Given the description of an element on the screen output the (x, y) to click on. 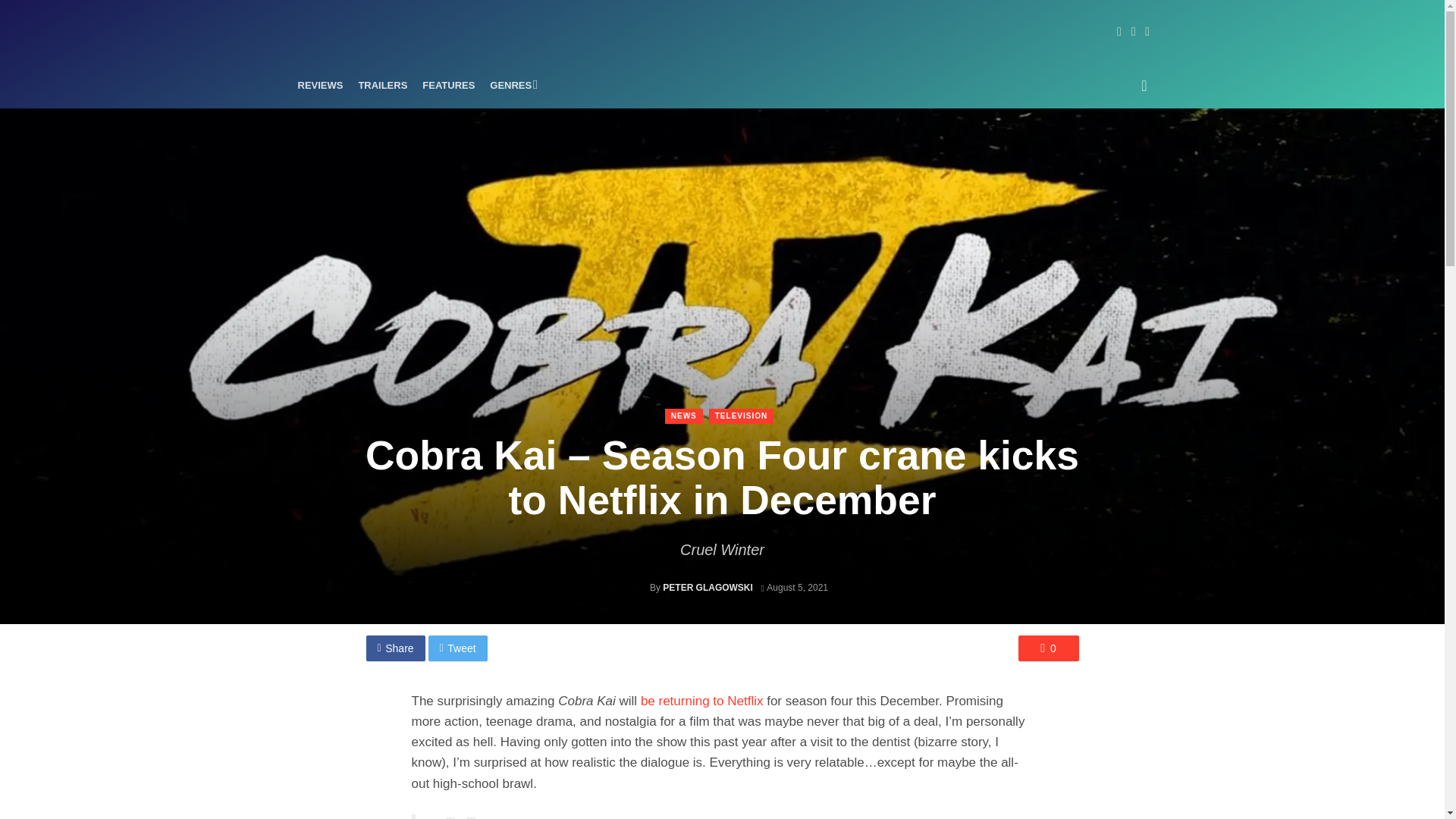
Genres (511, 85)
Posts by Peter Glagowski (707, 587)
Tweet (457, 647)
TRAILERS (382, 85)
Share (395, 647)
REVIEWS (319, 85)
August 5, 2021 at 6:45 pm (794, 587)
Share on Facebook (395, 647)
TELEVISION (741, 416)
0 Comments (1047, 647)
be returning to Netflix (701, 700)
PETER GLAGOWSKI (707, 587)
GENRES (511, 85)
Share on Twitter (457, 647)
NEWS (684, 416)
